Given the description of an element on the screen output the (x, y) to click on. 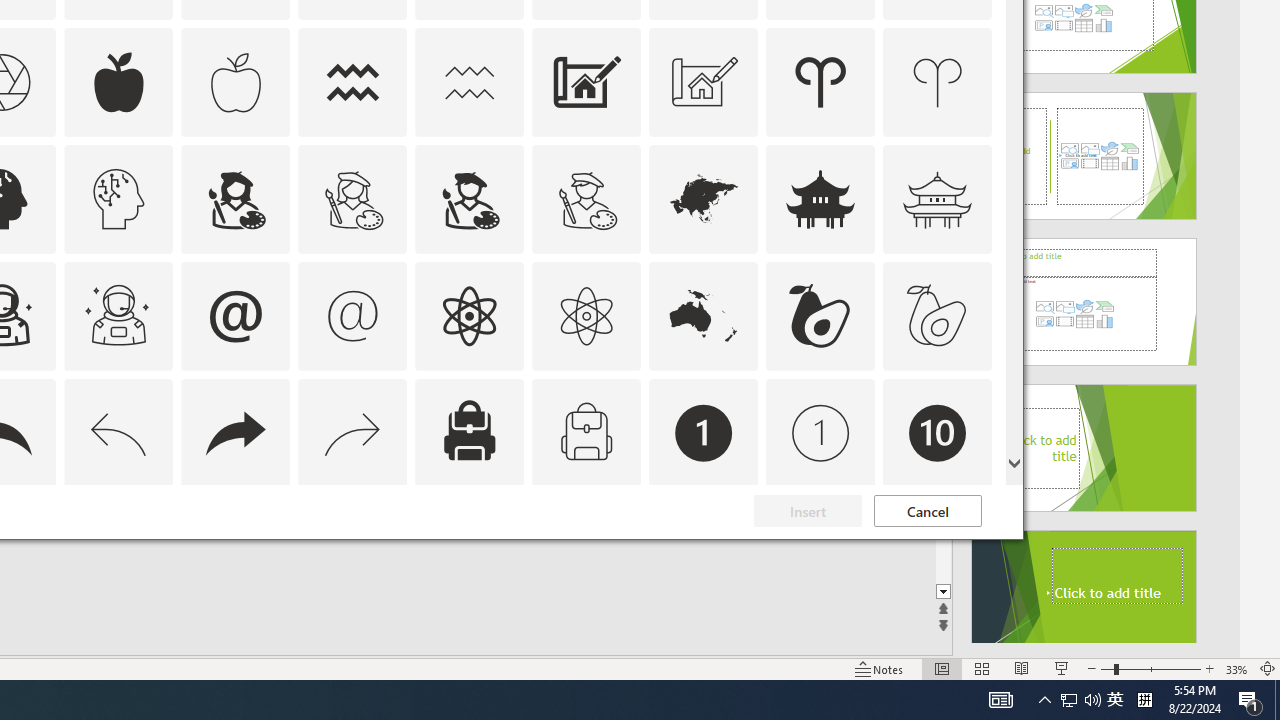
AutomationID: Icons_Aquarius_M (469, 82)
AutomationID: Icons_Australia (703, 316)
Cancel (927, 511)
AutomationID: Icons_Architecture (586, 82)
